Given the description of an element on the screen output the (x, y) to click on. 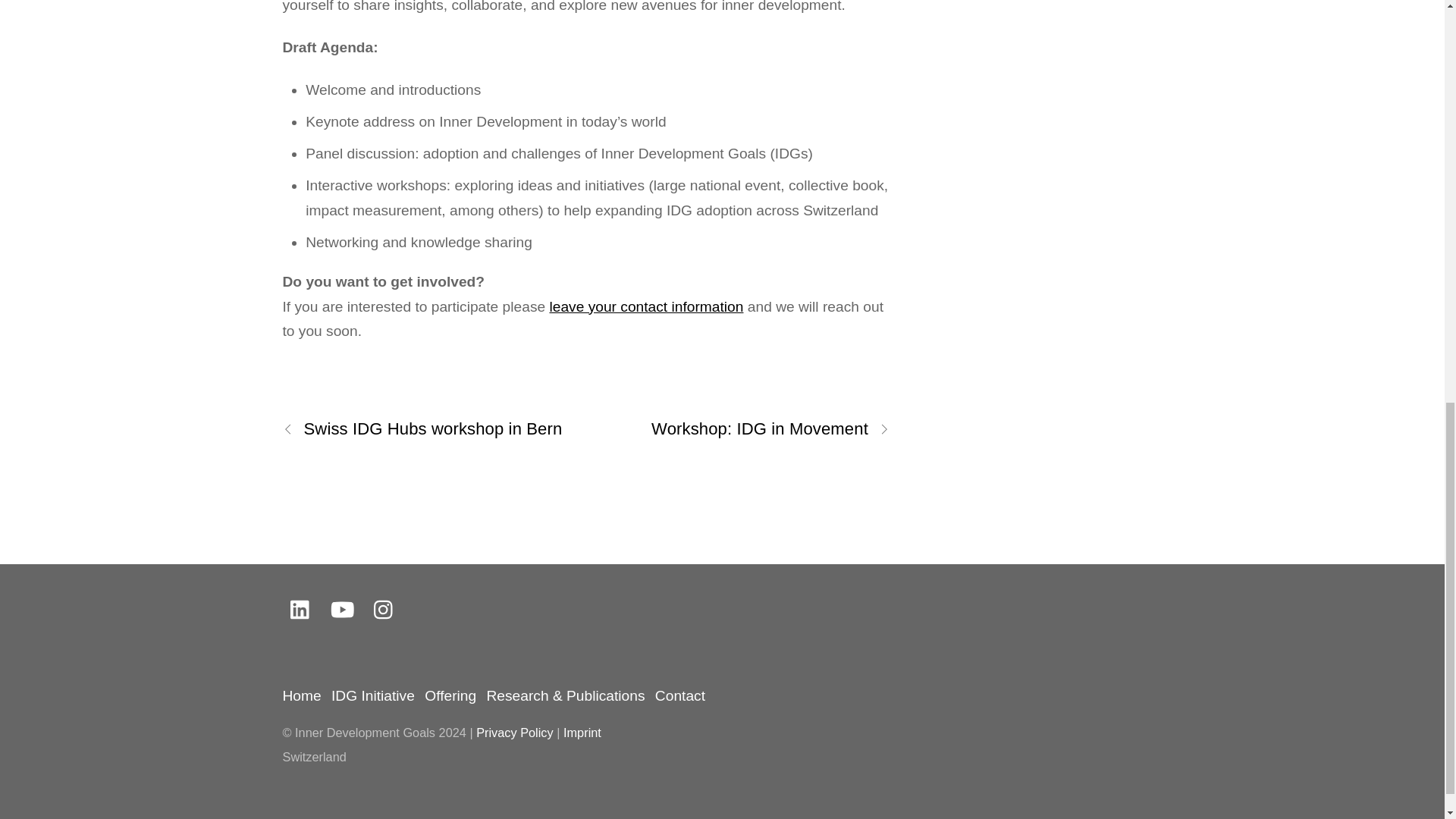
Workshop: IDG in Movement (746, 429)
Contact (679, 695)
IDG Initiative (372, 695)
Offering (450, 695)
Home (301, 695)
leave your contact information (645, 306)
Privacy Policy (514, 732)
Imprint (582, 732)
Swiss IDG Hubs workshop in Bern (424, 429)
